Given the description of an element on the screen output the (x, y) to click on. 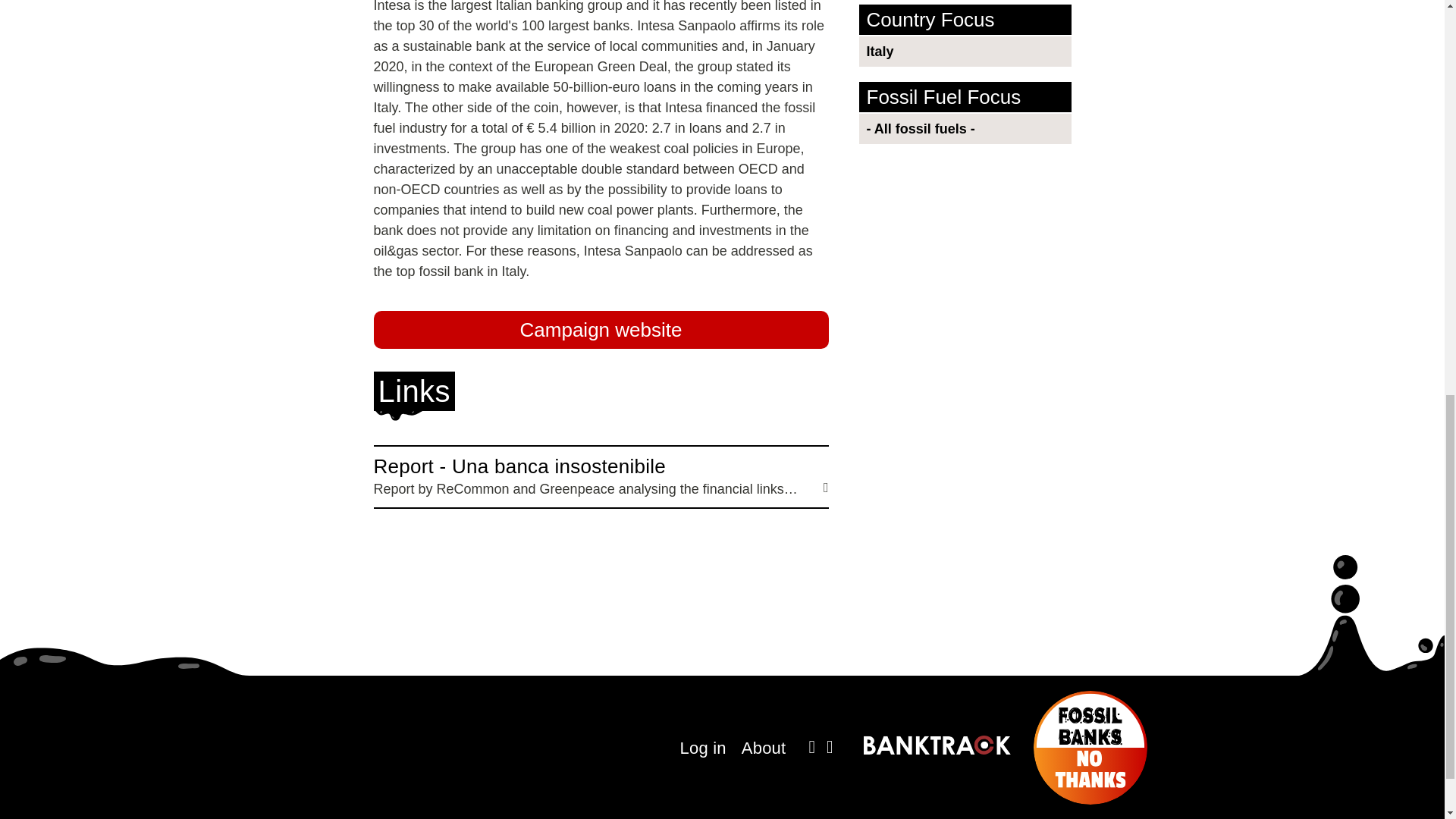
- All fossil fuels - (968, 128)
Take action (1288, 30)
Campaign website (600, 329)
Campaign website (600, 329)
Italy (968, 51)
Report - Una banca insostenibile (600, 477)
Log in (702, 747)
Take action (1288, 30)
About (763, 747)
